Given the description of an element on the screen output the (x, y) to click on. 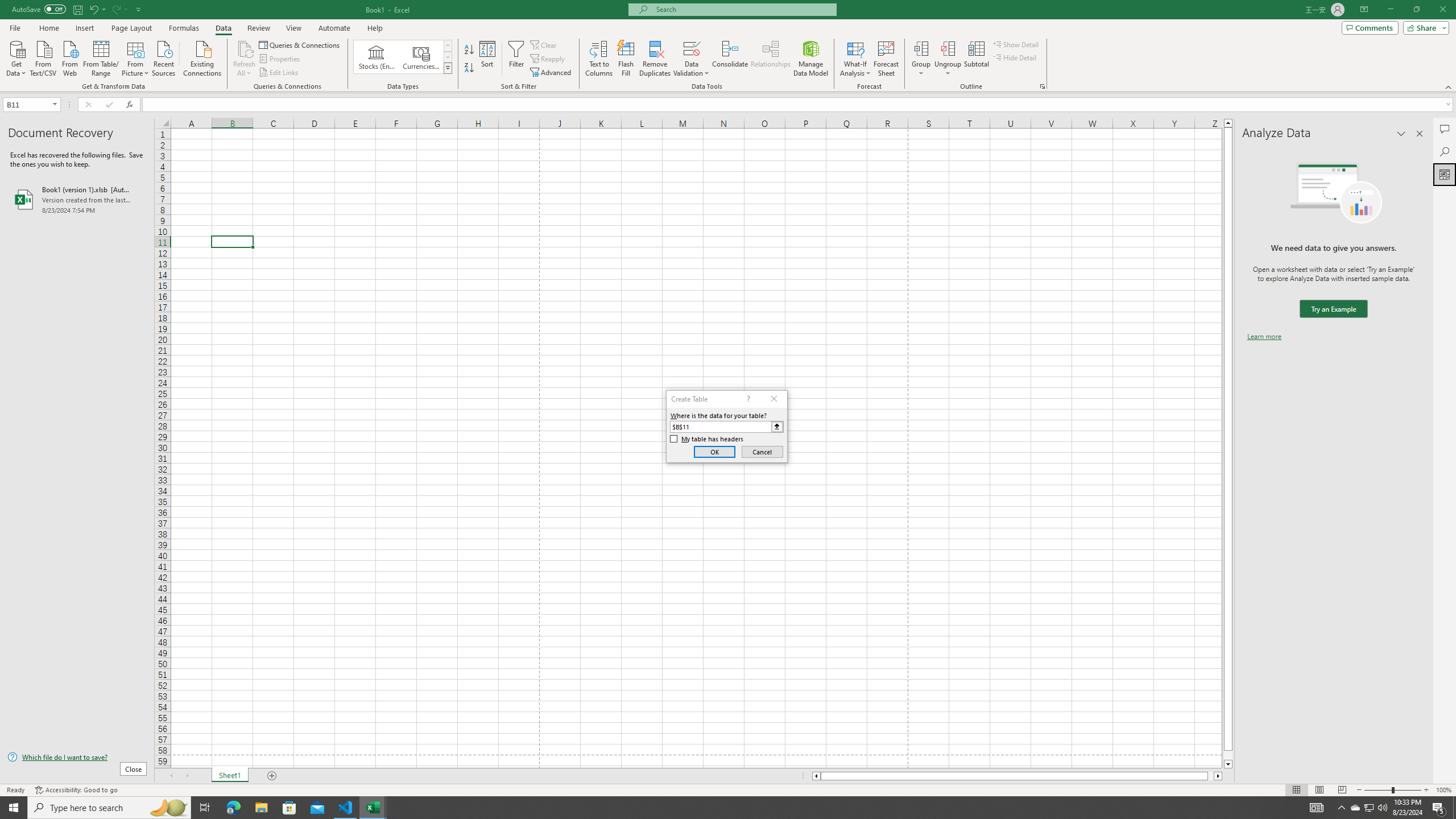
Filter (515, 58)
Group and Outline Settings (1042, 85)
Existing Connections (202, 57)
